Given the description of an element on the screen output the (x, y) to click on. 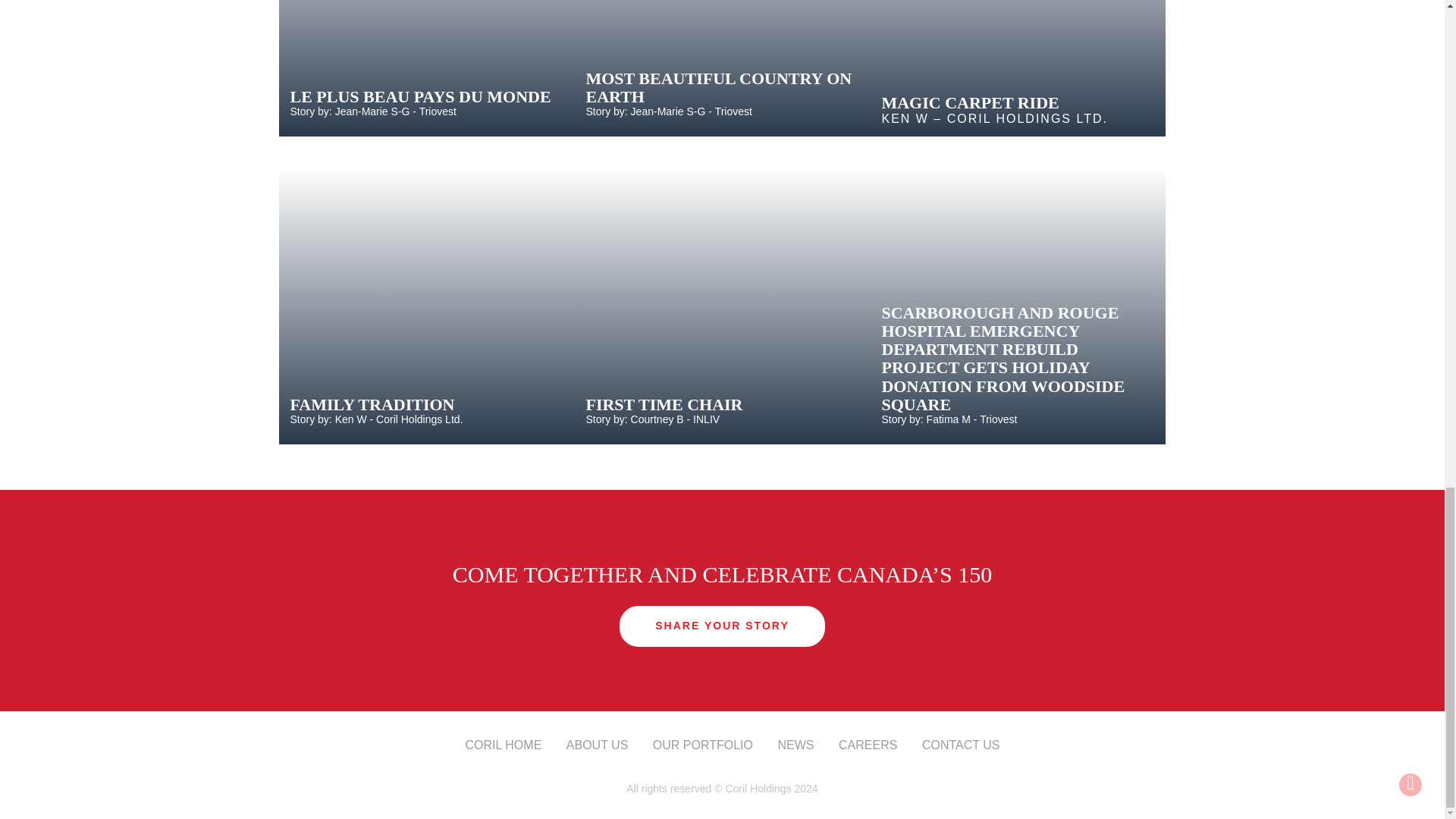
ABOUT US (597, 744)
CAREERS (867, 744)
SHARE YOUR STORY (722, 626)
CONTACT US (960, 744)
OUR PORTFOLIO (702, 744)
NEWS (795, 744)
CORIL HOME (503, 744)
